Given the description of an element on the screen output the (x, y) to click on. 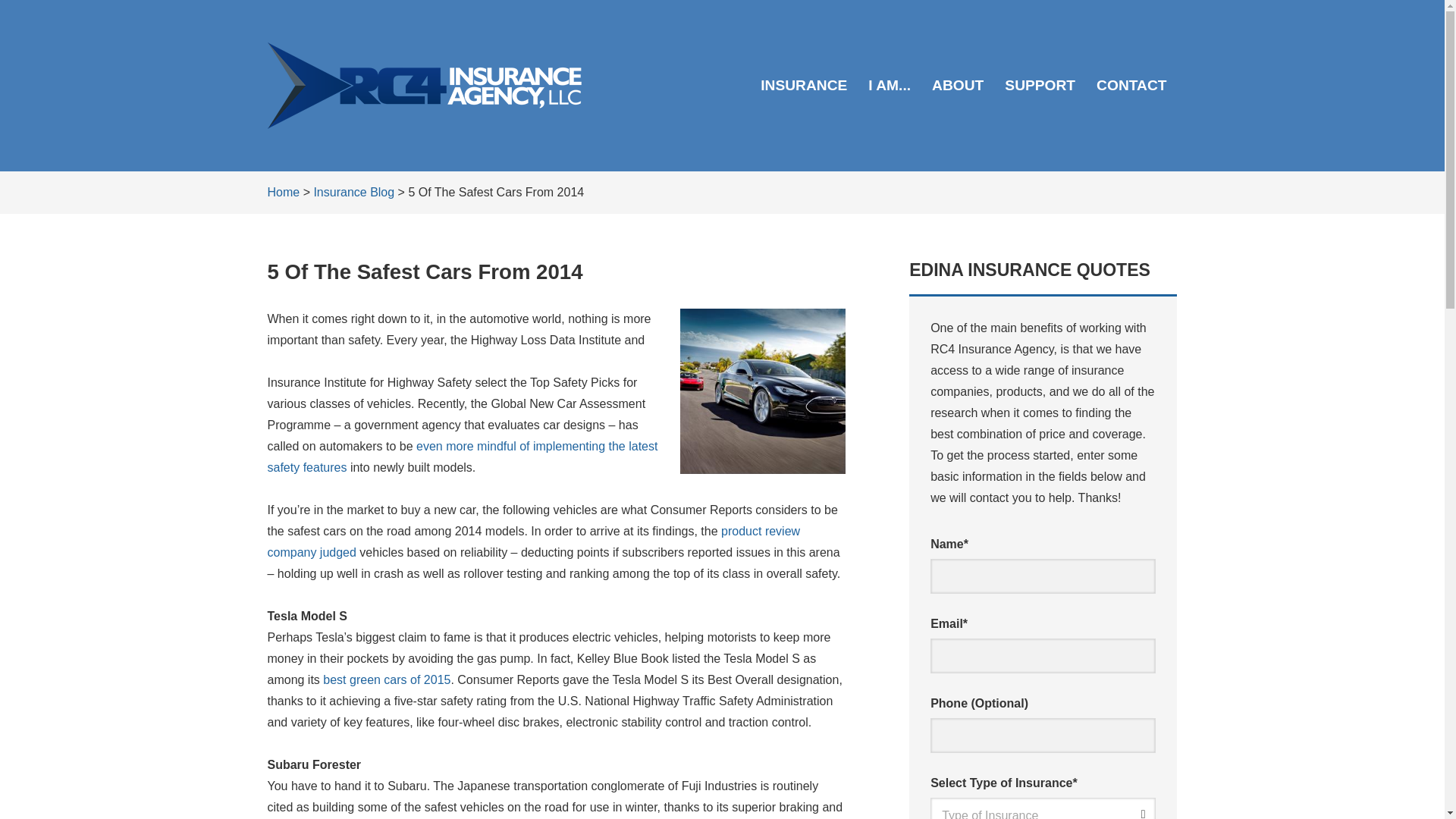
RC4 Insurance Agency (423, 85)
INSURANCE (803, 85)
I AM... (889, 85)
